Given the description of an element on the screen output the (x, y) to click on. 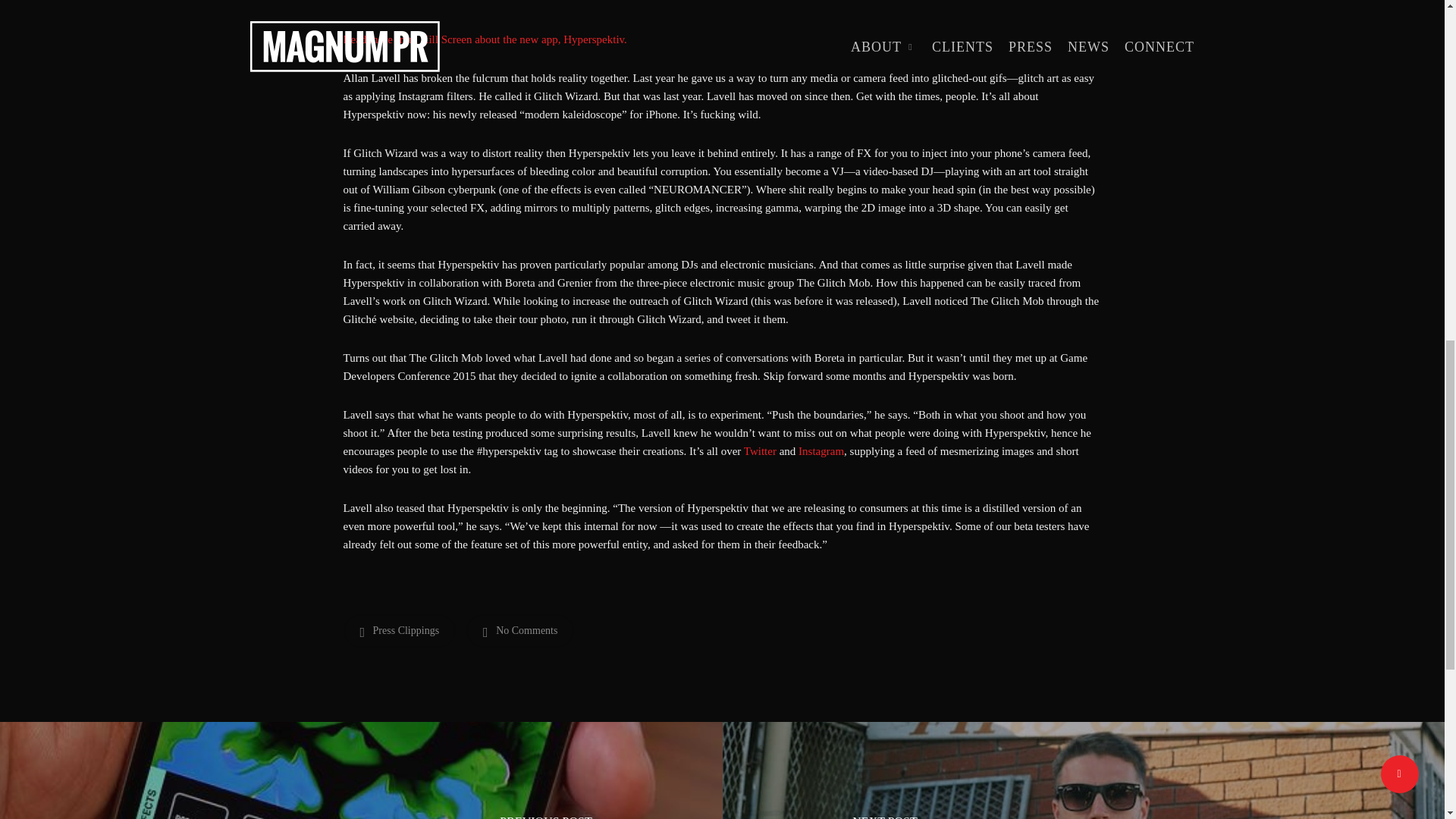
Twitter (760, 451)
Press Clippings (398, 630)
Instagram (820, 451)
No Comments (519, 630)
Read more from Kill Screen about the new app, Hyperspektiv. (484, 39)
